Given the description of an element on the screen output the (x, y) to click on. 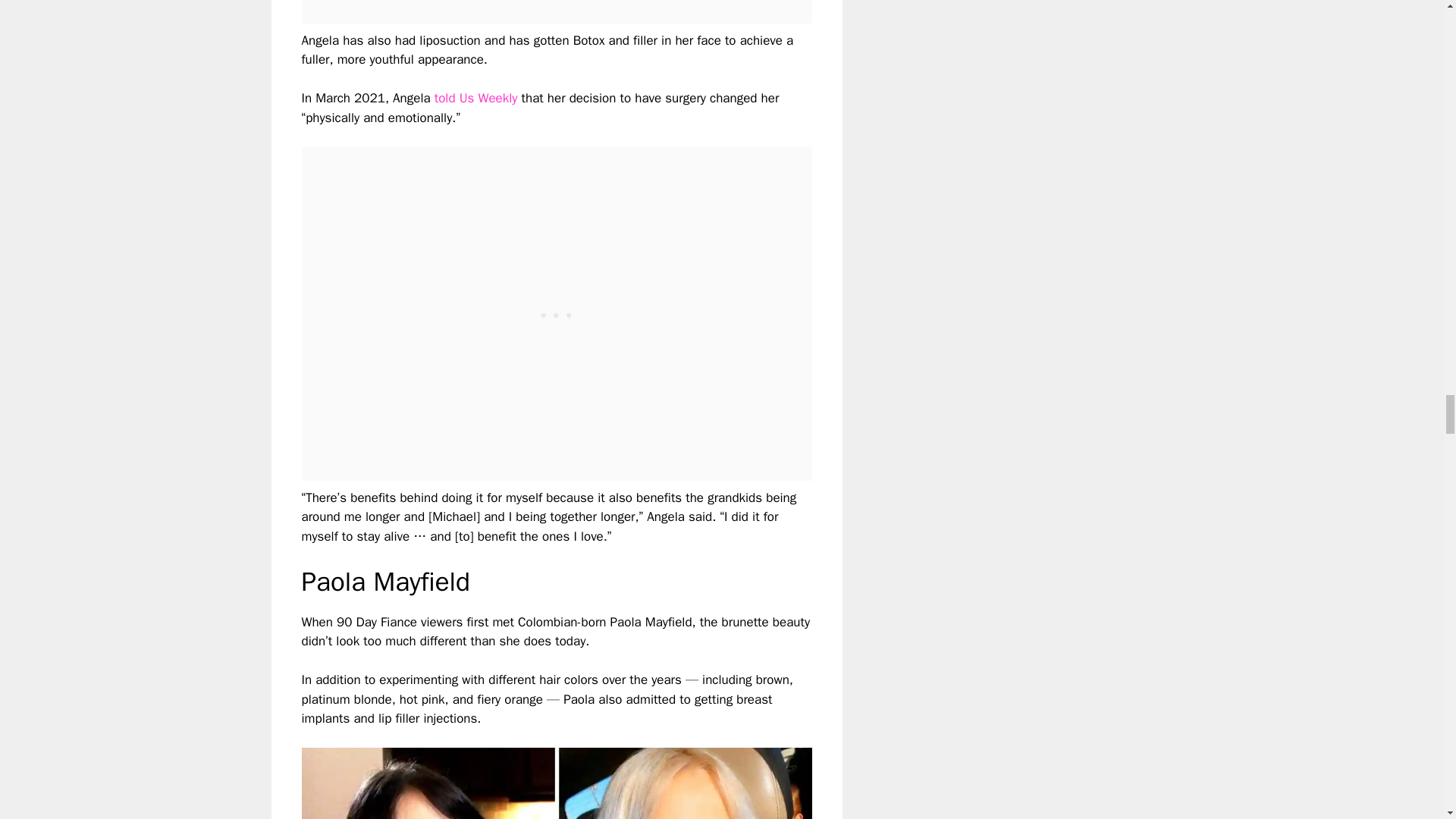
told Us Weekly (475, 98)
